Given the description of an element on the screen output the (x, y) to click on. 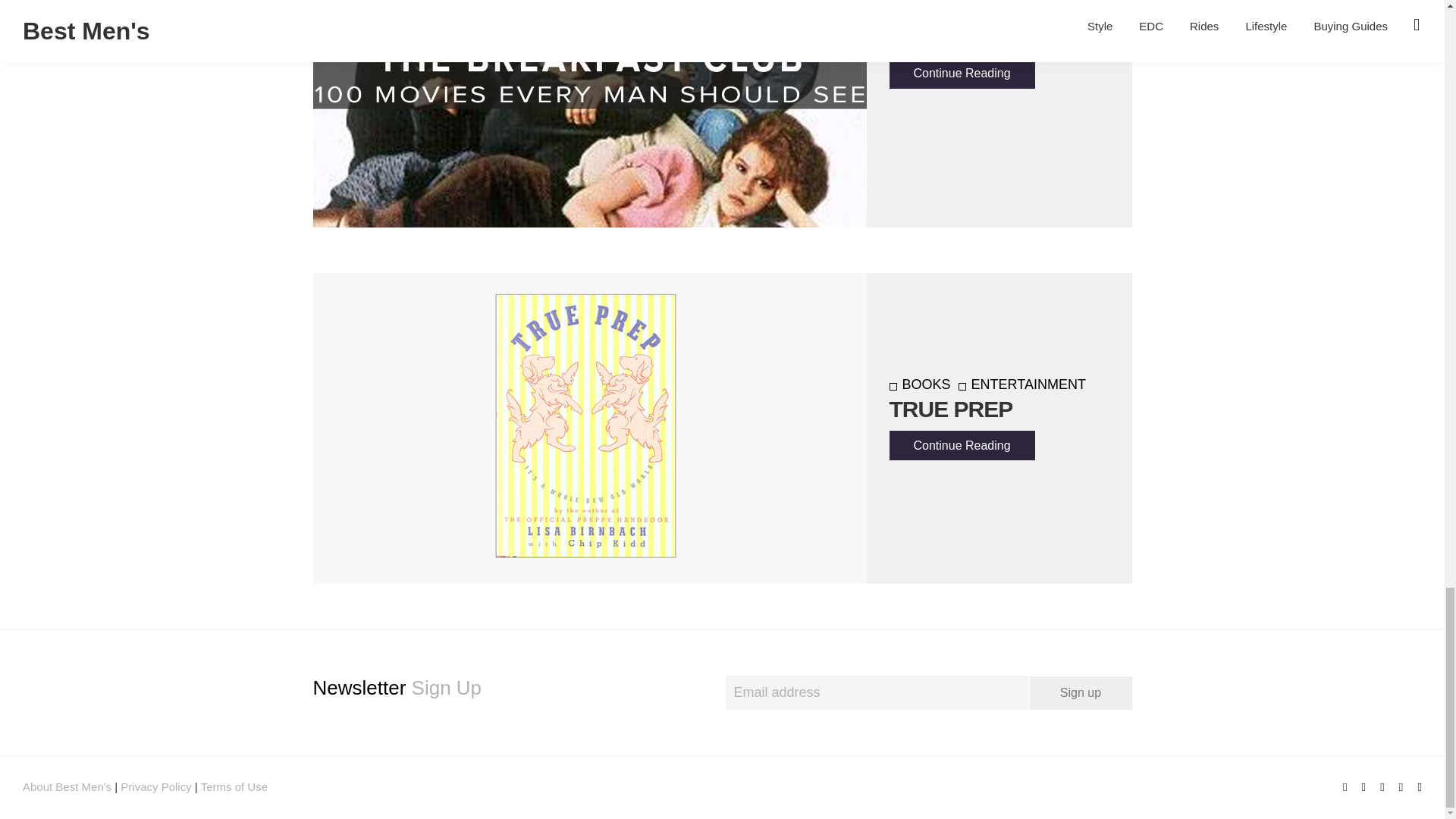
About Best Men's (67, 786)
TRUE PREP (949, 408)
THE BREAKFAST CLUB (979, 24)
Continue Reading (960, 445)
BOOKS (919, 384)
ENTERTAINMENT (1022, 384)
Continue Reading (960, 73)
Sign up (1080, 693)
Privacy Policy (155, 786)
Sign up (1080, 693)
